Given the description of an element on the screen output the (x, y) to click on. 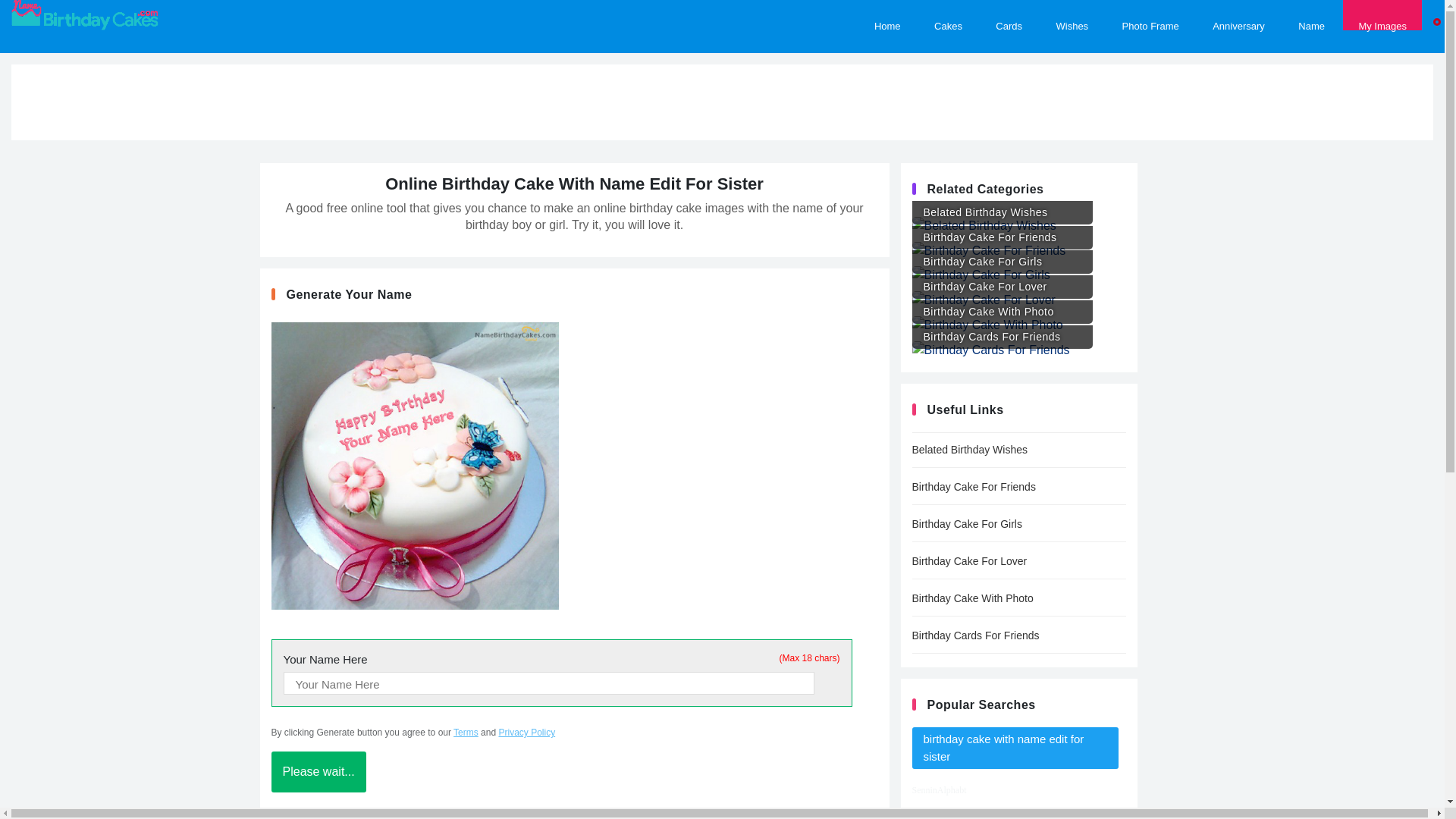
Belated Birthday Wishes (1018, 449)
Birthday Cards For Friends (1018, 635)
Anniversary (1237, 15)
Birthday Cards For Friends (1013, 344)
Birthday Cake For Friends (1013, 244)
Belated Birthday Wishes (1013, 220)
Name (1310, 15)
Home (887, 15)
Birthday Cake For Girls (1013, 270)
birthday cake with name edit for sister (1014, 748)
Wishes (1072, 15)
Birthday Cake For Friends (1018, 487)
Birthday Cake With Photo (1013, 319)
Cards (1007, 15)
Photo Frame (1149, 15)
